Given the description of an element on the screen output the (x, y) to click on. 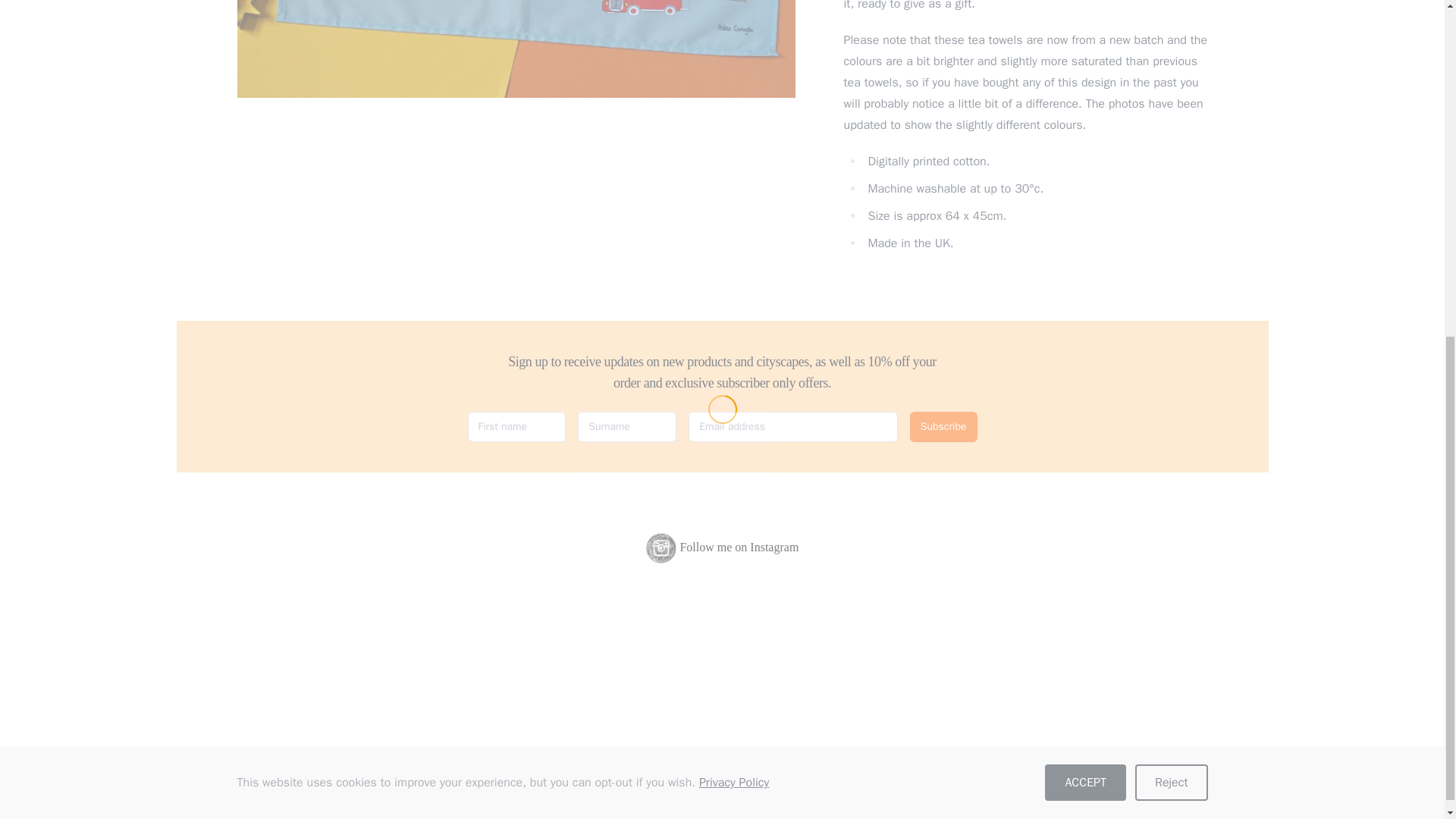
Follow me on Instagram (681, 773)
Follow me on Instagram (722, 547)
Follow me on Pinterest (760, 773)
Follow me on Facebook (721, 773)
